Given the description of an element on the screen output the (x, y) to click on. 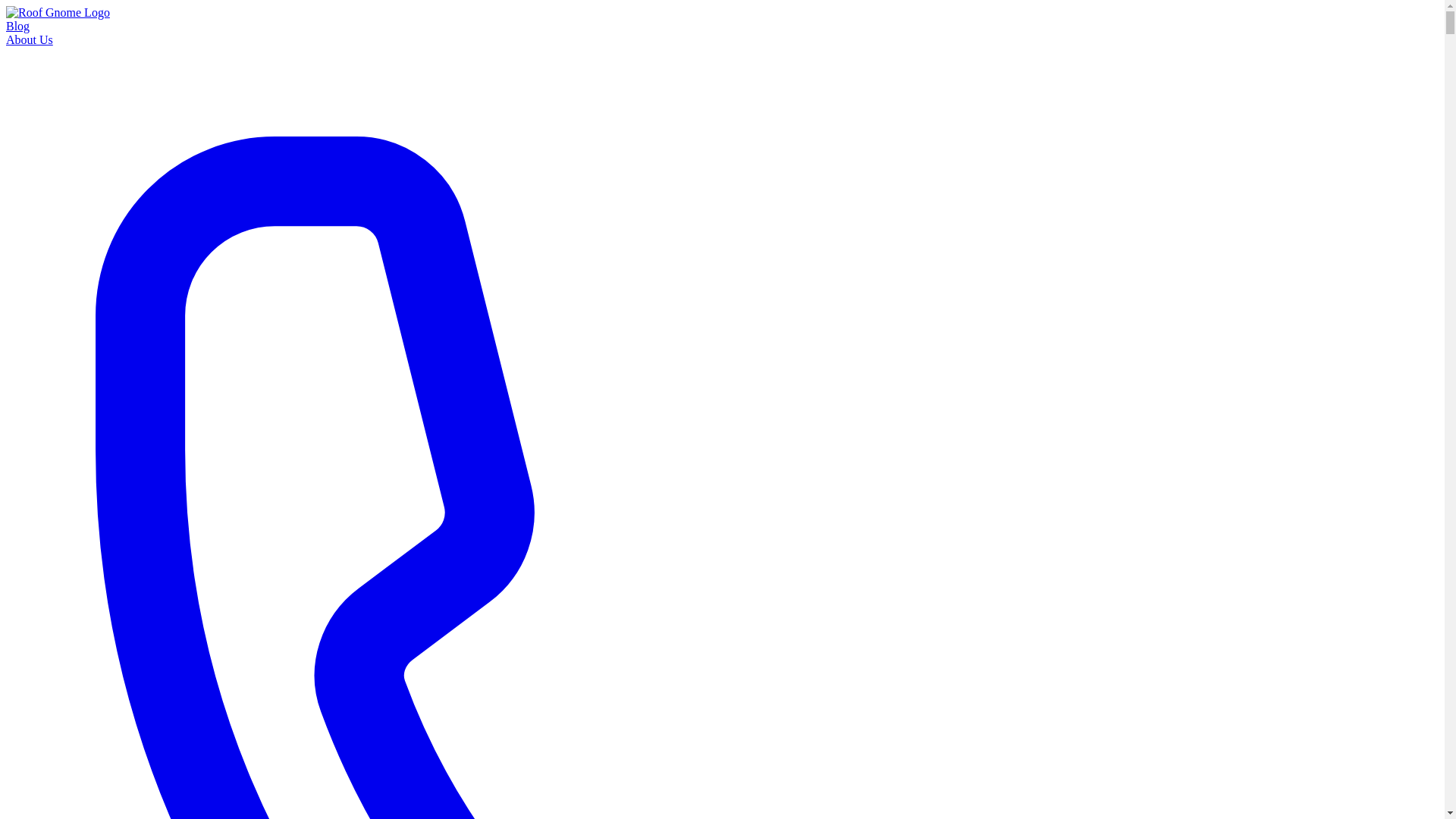
Blog (17, 25)
About Us (28, 39)
